Given the description of an element on the screen output the (x, y) to click on. 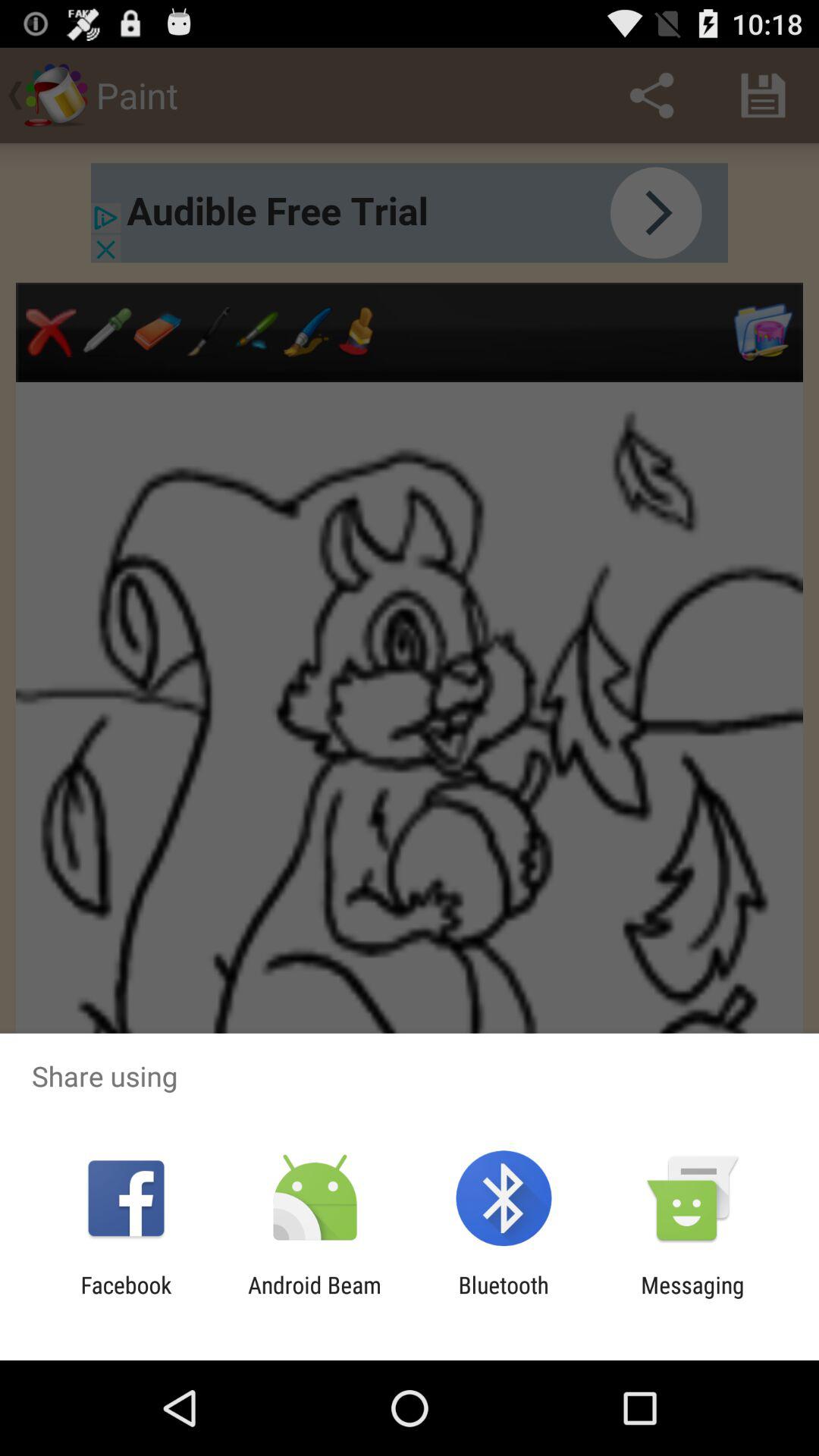
launch the android beam app (314, 1298)
